Given the description of an element on the screen output the (x, y) to click on. 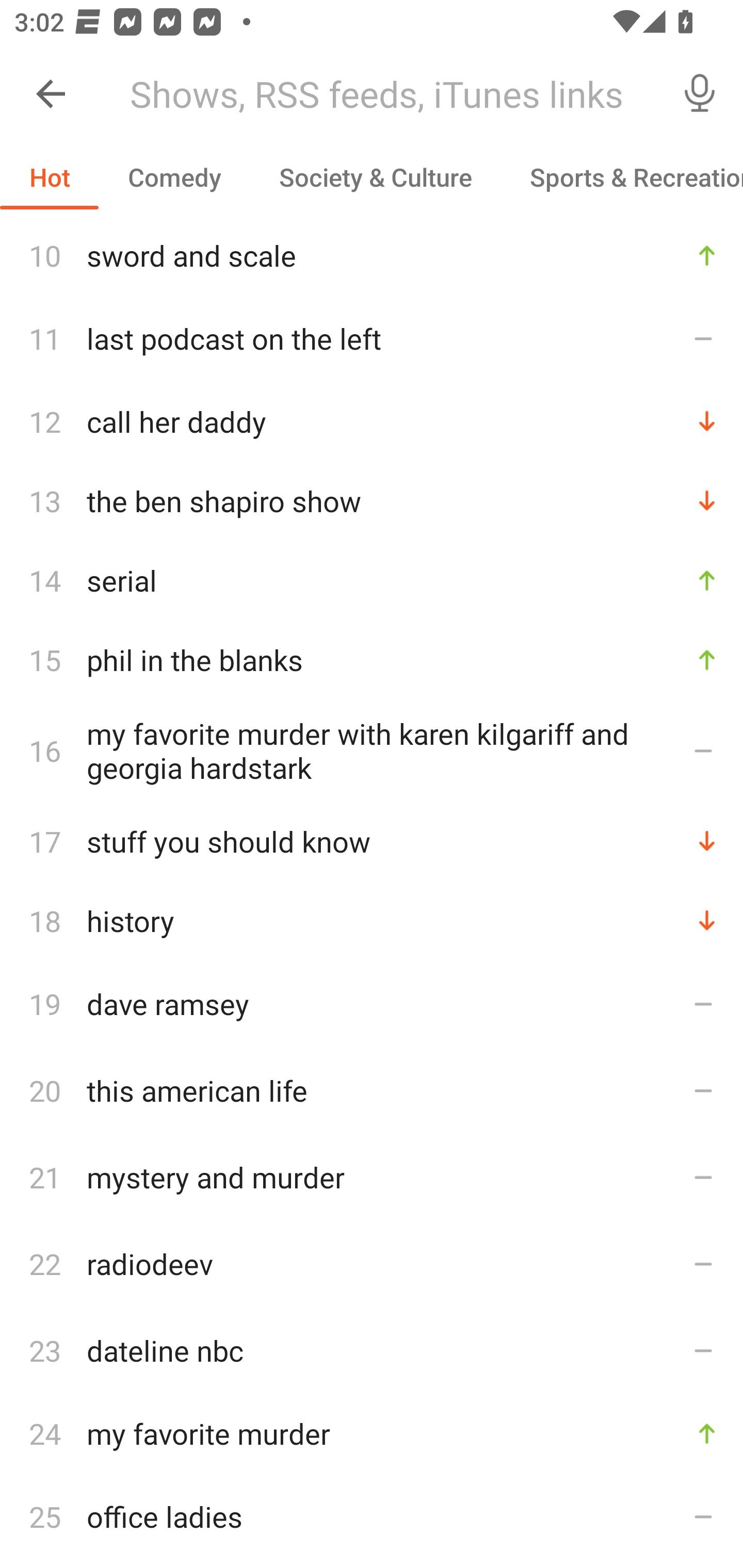
Collapse (50, 93)
Voice Search (699, 93)
Shows, RSS feeds, iTunes links (385, 94)
Hot (49, 177)
Comedy (173, 177)
Society & Culture (374, 177)
Sports & Recreation (621, 177)
10 sword and scale (371, 255)
11 last podcast on the left (371, 337)
12 call her daddy (371, 420)
13 the ben shapiro show (371, 500)
14 serial (371, 579)
15 phil in the blanks (371, 659)
17 stuff you should know (371, 841)
18 history (371, 920)
19 dave ramsey (371, 1003)
20 this american life (371, 1090)
21 mystery and murder (371, 1176)
22 radiodeev (371, 1263)
23 dateline nbc (371, 1350)
24 my favorite murder (371, 1432)
25 office ladies (371, 1516)
